Given the description of an element on the screen output the (x, y) to click on. 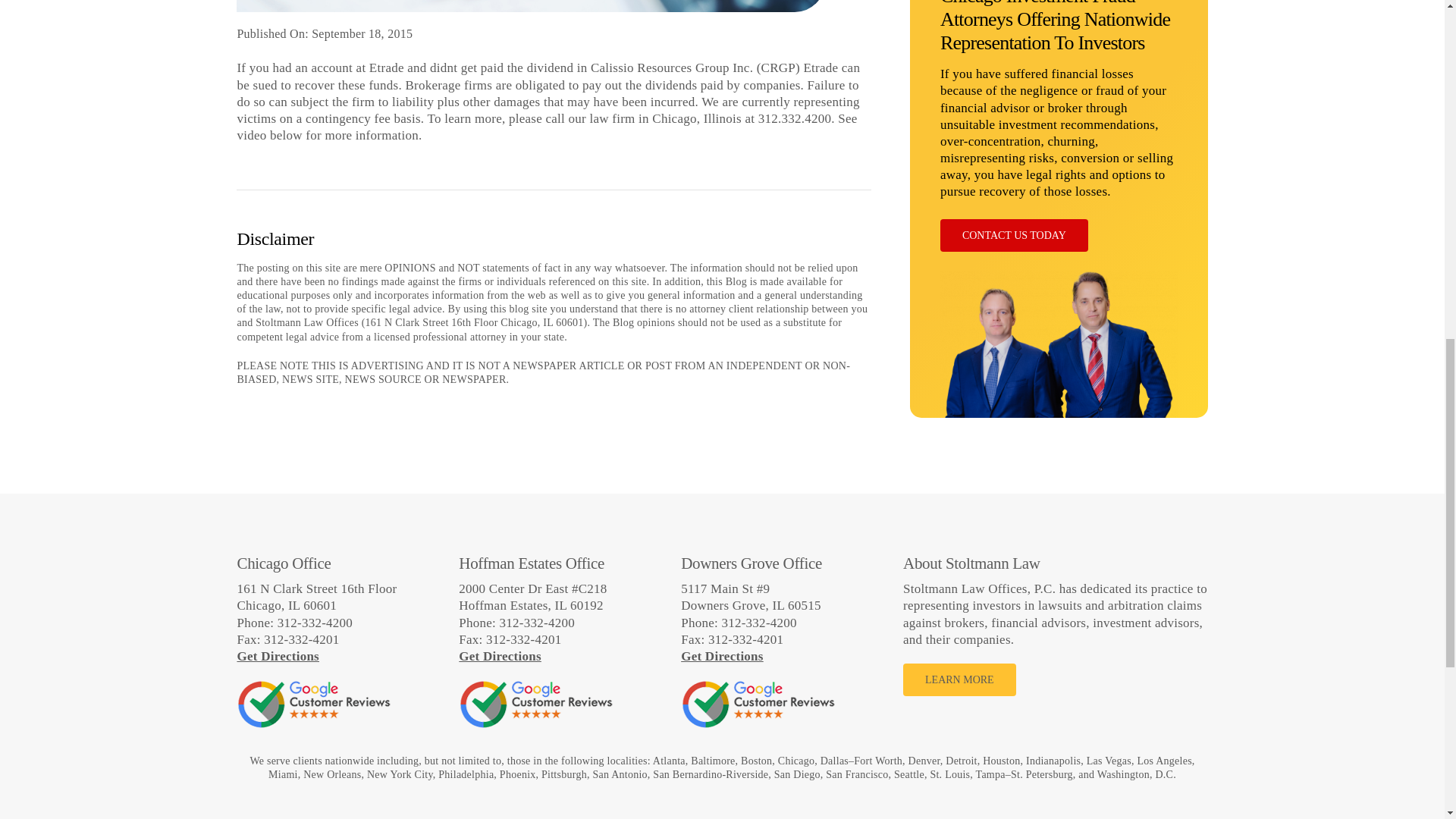
Google Customer Reviews (535, 704)
Stoltmann Law Securities Investment Fraud Attorneys (1058, 42)
